Given the description of an element on the screen output the (x, y) to click on. 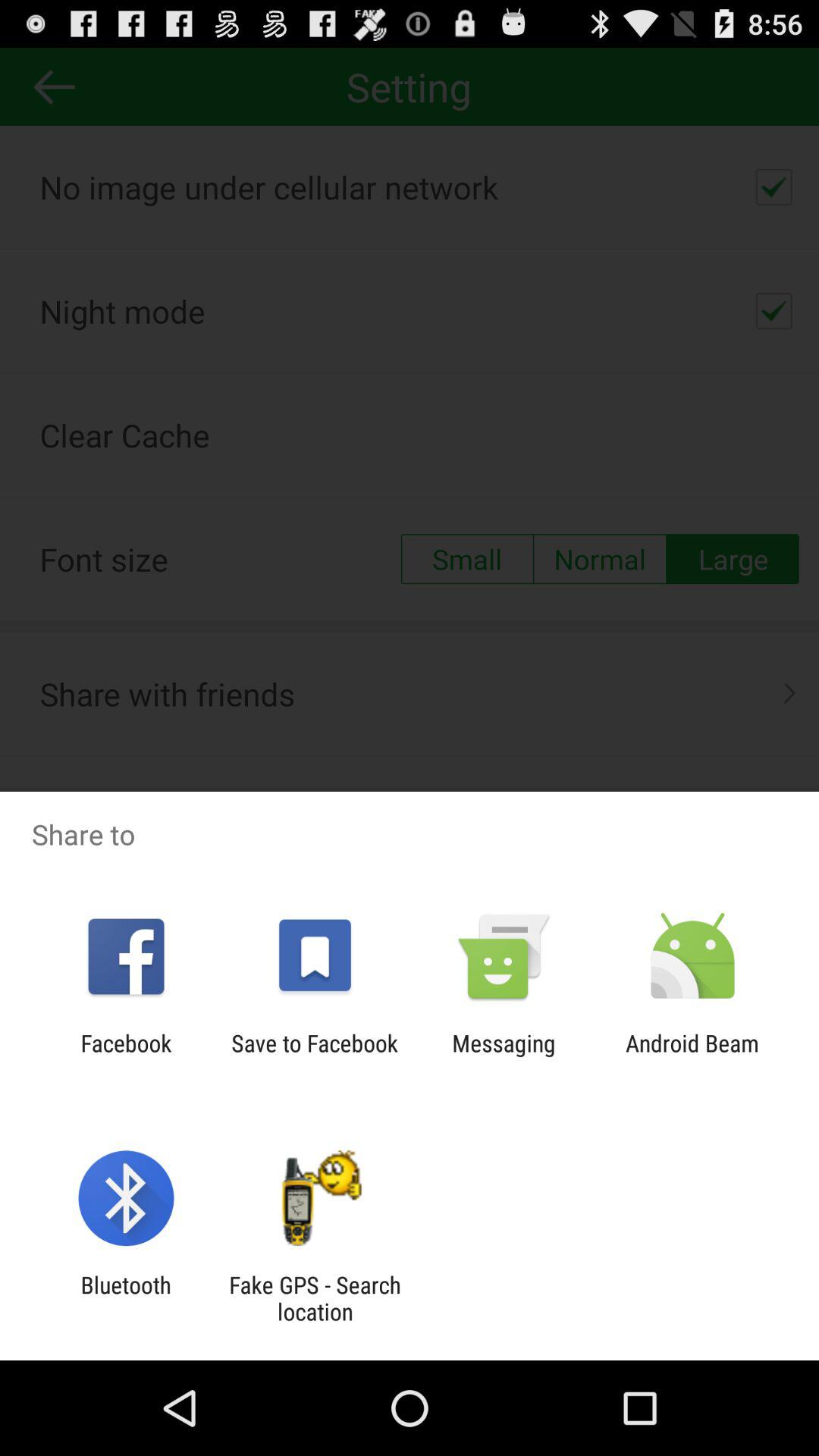
turn off the icon to the right of messaging app (692, 1056)
